Given the description of an element on the screen output the (x, y) to click on. 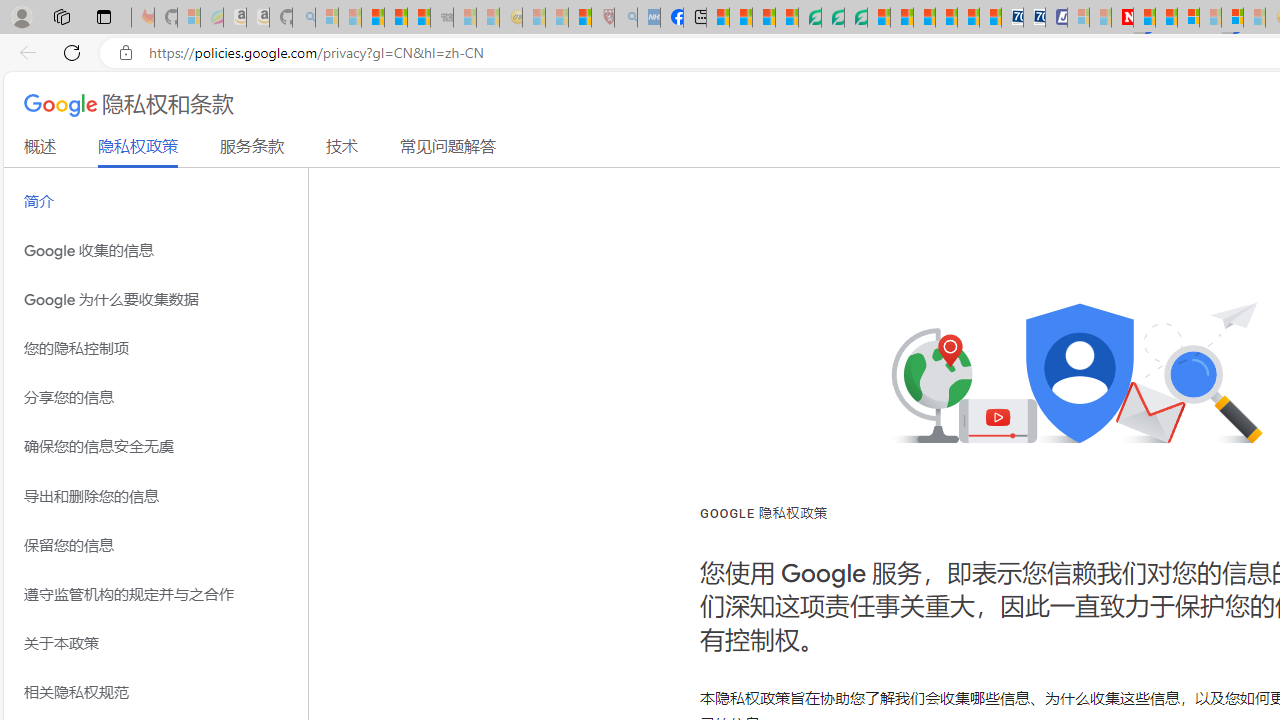
Latest Politics News & Archive | Newsweek.com (1122, 17)
